Given the description of an element on the screen output the (x, y) to click on. 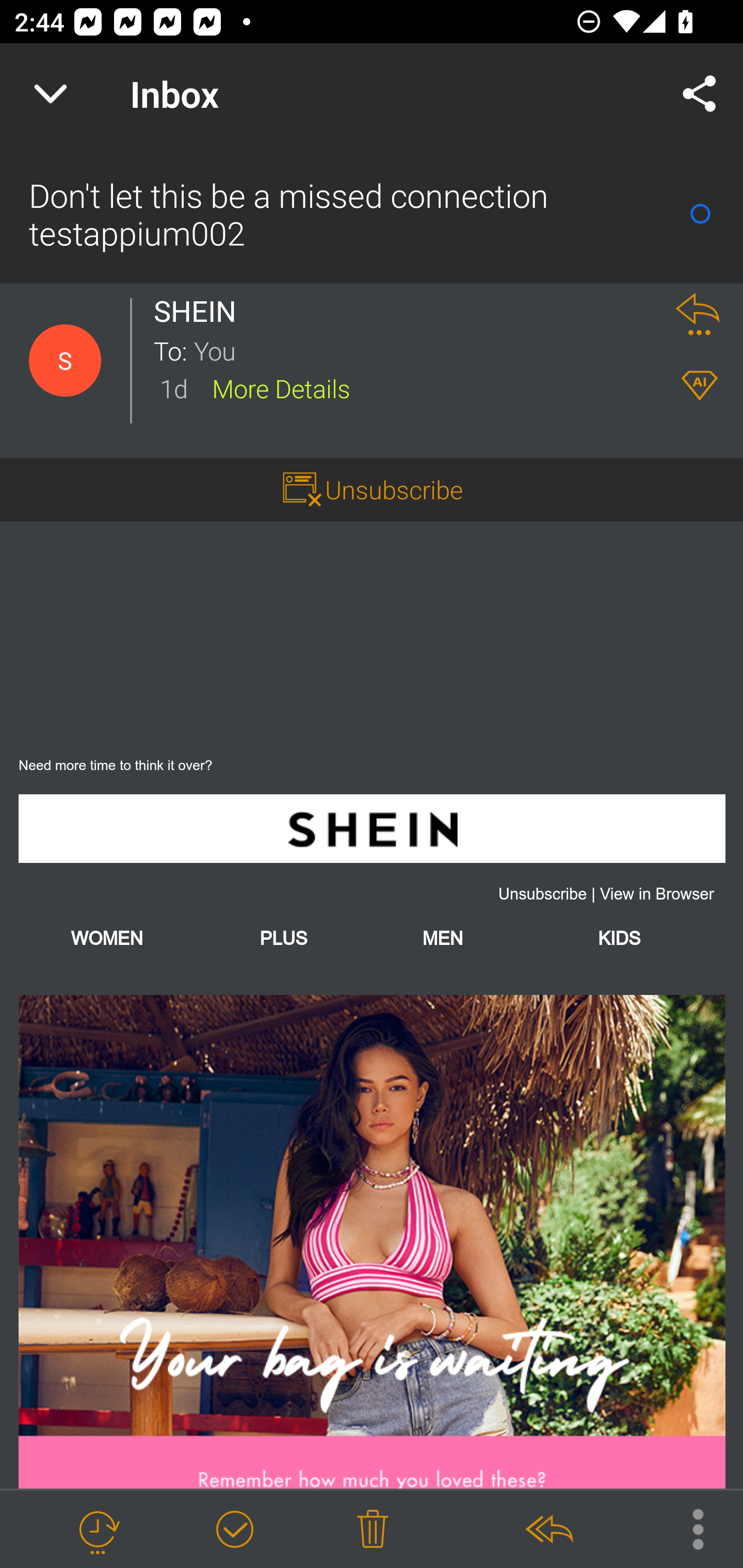
Navigate up (50, 93)
Share (699, 93)
Mark as Read (699, 213)
SHEIN (200, 310)
Contact Details (64, 360)
More Details (280, 387)
Unsubscribe (393, 488)
Need more time to think it over? (115, 764)
SHEIN (371, 827)
Unsubscribe (542, 894)
View in Browser (656, 894)
WOMEN (106, 939)
PLUS (282, 939)
MEN (441, 939)
KIDS (618, 939)
cart (371, 1240)
More Options (687, 1528)
Snooze (97, 1529)
Mark as Done (234, 1529)
Delete (372, 1529)
Reply All (548, 1529)
